Given the description of an element on the screen output the (x, y) to click on. 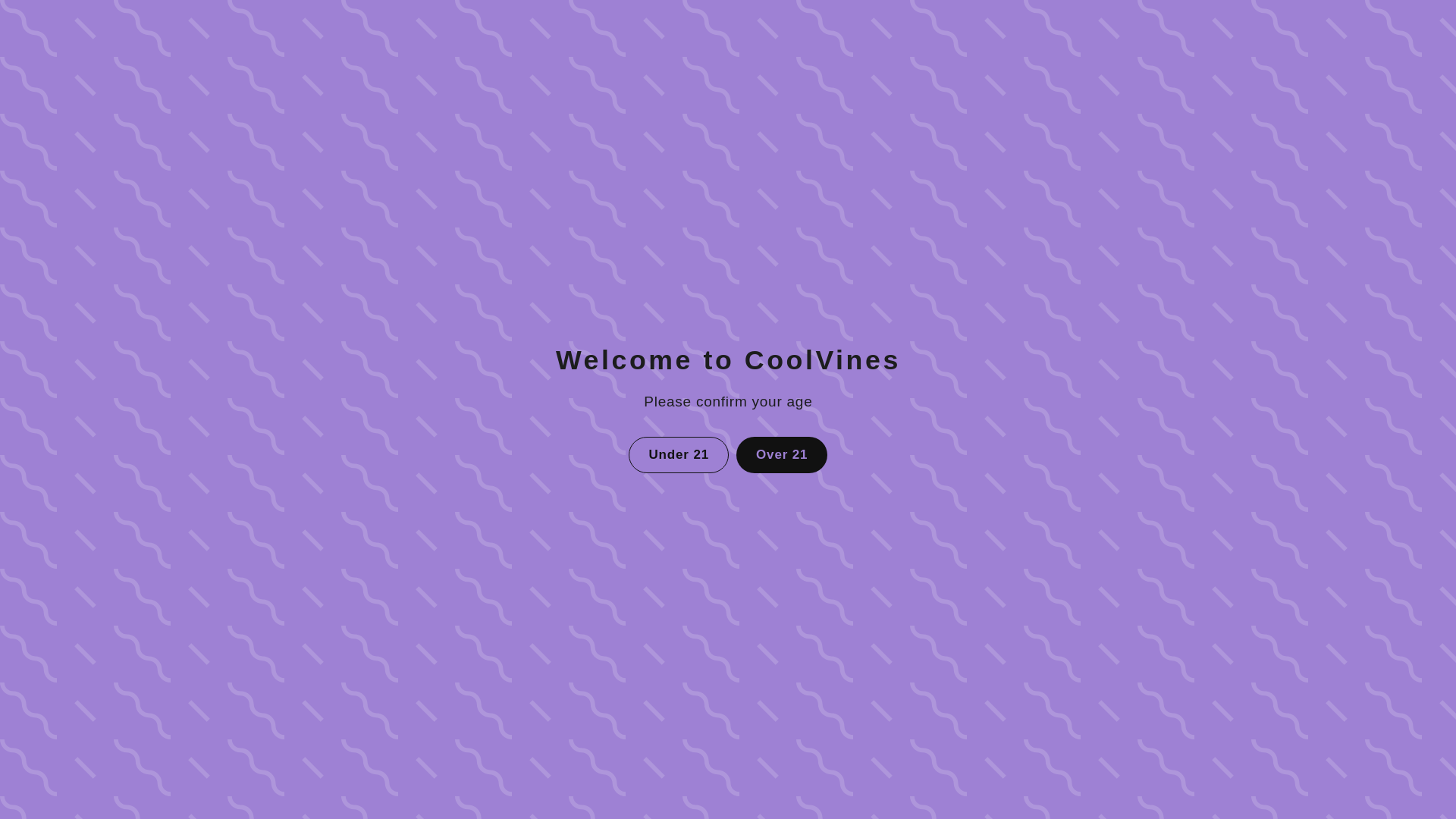
Ask a question (727, 698)
Over 21 (781, 453)
Sold Out (1018, 339)
Under 21 (680, 453)
